Given the description of an element on the screen output the (x, y) to click on. 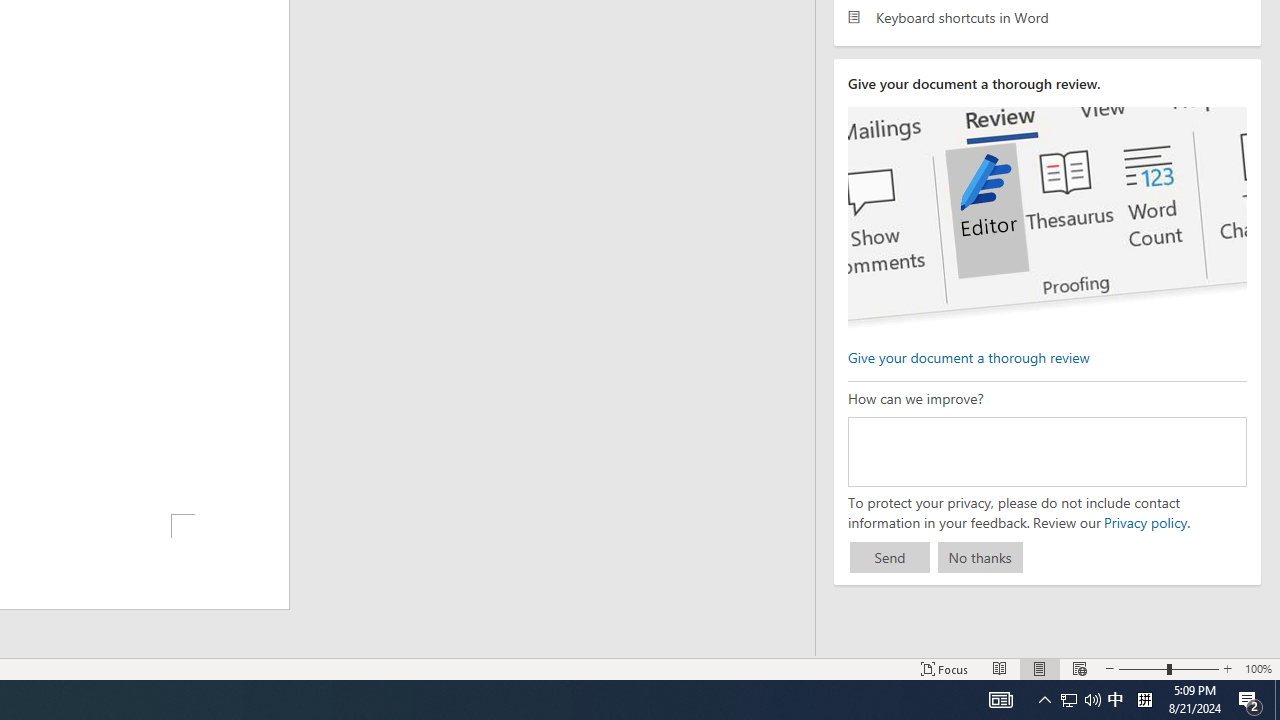
Focus  (944, 668)
Read Mode (1000, 668)
Zoom 100% (1258, 668)
Zoom Out (1142, 668)
Zoom (1168, 668)
Zoom In (1227, 668)
editor ui screenshot (1046, 218)
No thanks (980, 557)
How can we improve? (1046, 451)
Keyboard shortcuts in Word (1047, 16)
Give your document a thorough review (968, 356)
Print Layout (1039, 668)
Privacy policy (1144, 522)
Web Layout (1079, 668)
Send (889, 557)
